Given the description of an element on the screen output the (x, y) to click on. 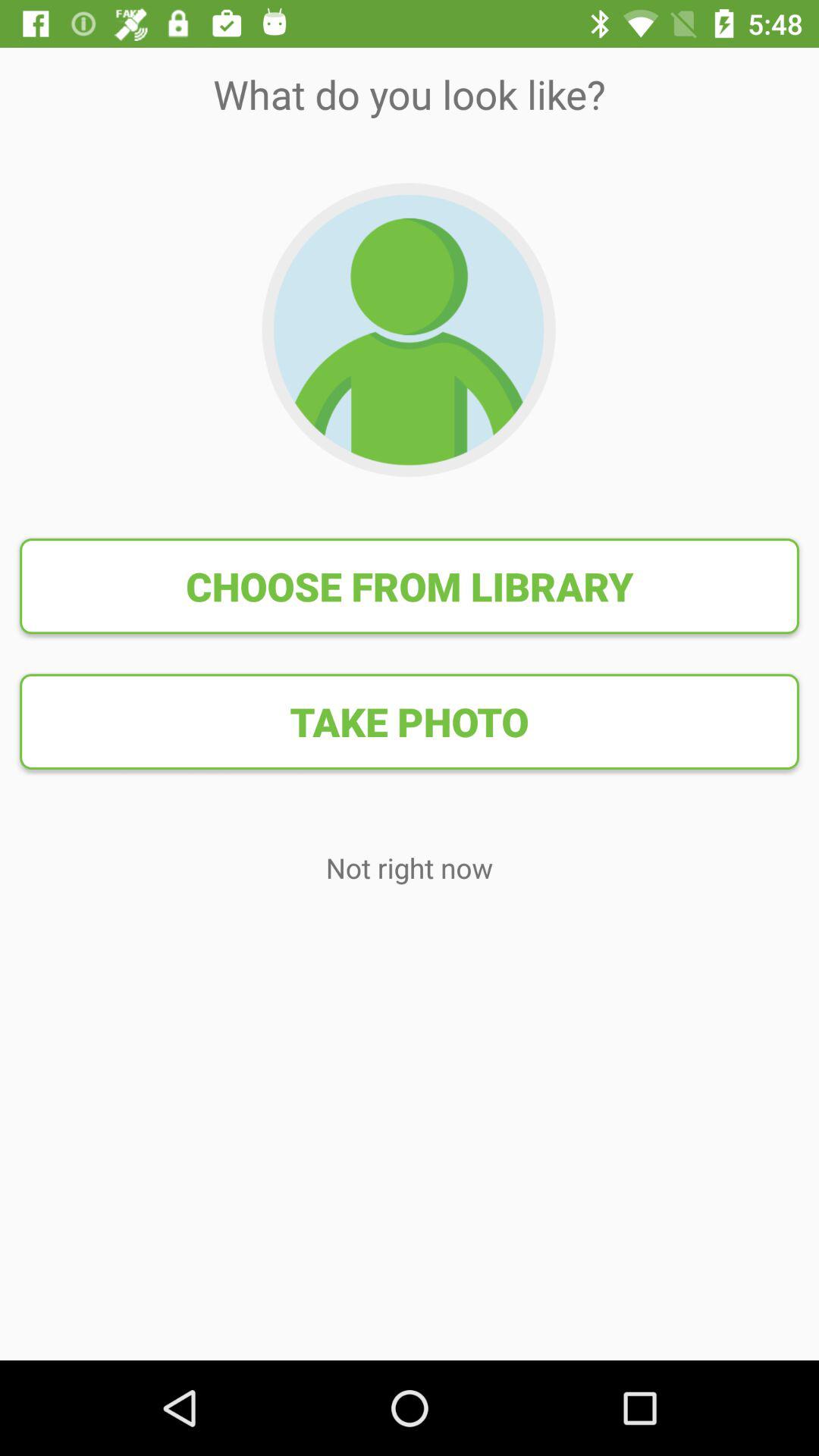
select the item below take photo item (409, 867)
